Given the description of an element on the screen output the (x, y) to click on. 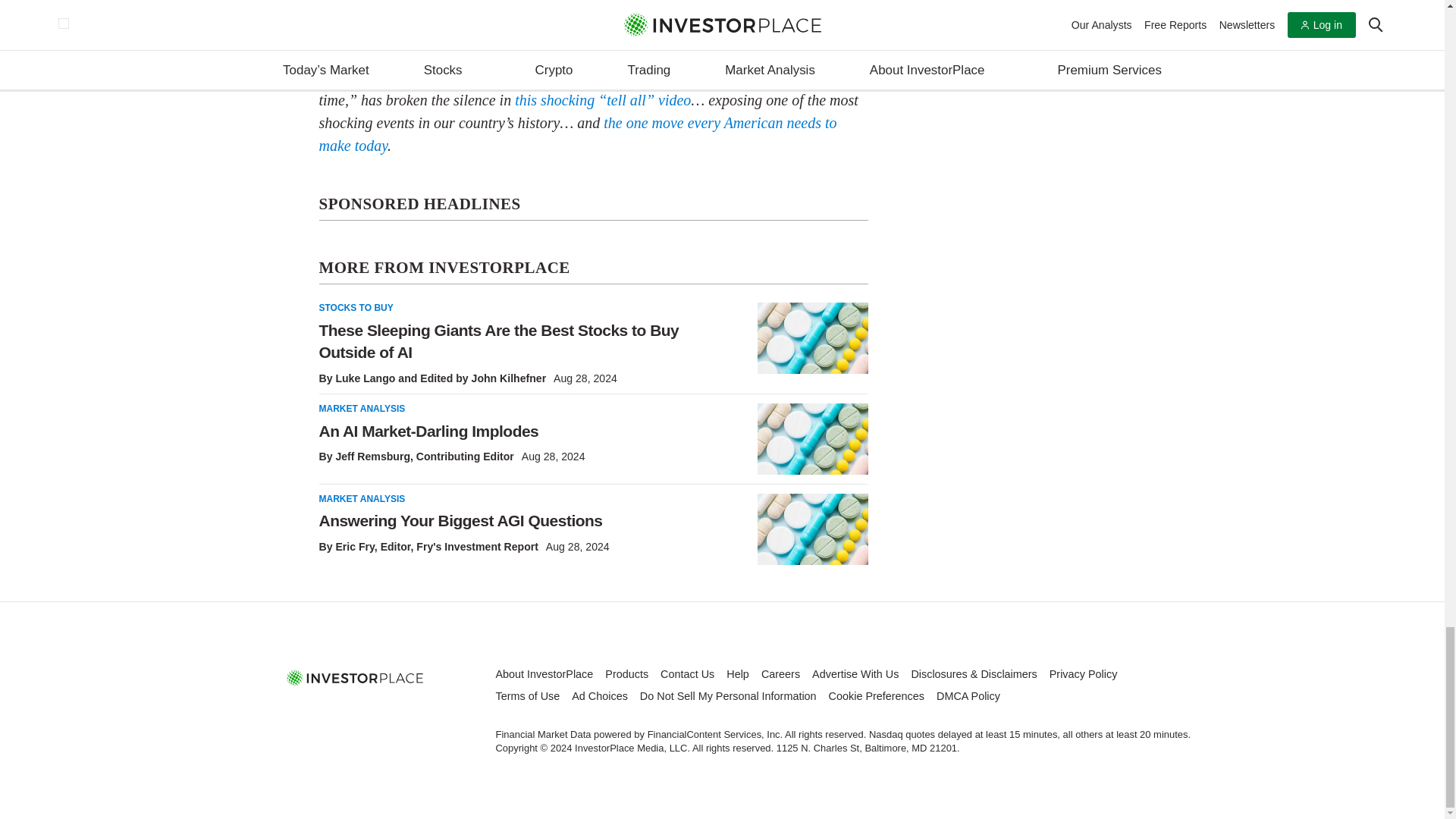
Answering Your Biggest AGI Questions (812, 529)
Subscribe to our RSS feed (389, 711)
View profile of Jeff Remsburg (372, 456)
An AI Market-Darling Implodes (812, 439)
View profile of Luke Lango (364, 378)
View profile of Eric Fry (354, 546)
Visit our Twitter page (354, 711)
View profile of Edited by John Kilhefner (483, 378)
Visit our Facebook Page (319, 711)
